Given the description of an element on the screen output the (x, y) to click on. 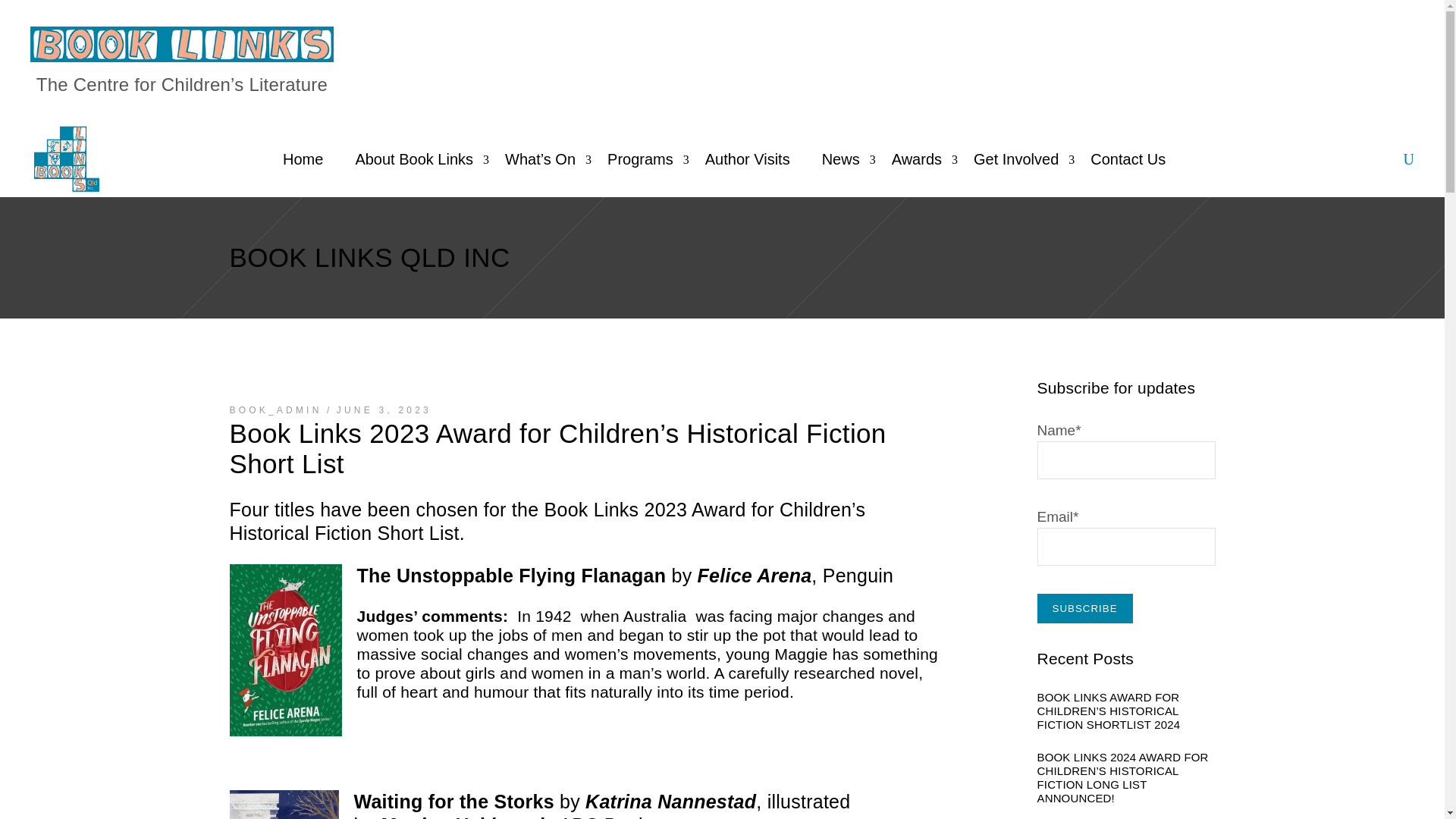
Home (302, 159)
About Book Links (414, 159)
Programs (639, 159)
Subscribe (1084, 608)
